Given the description of an element on the screen output the (x, y) to click on. 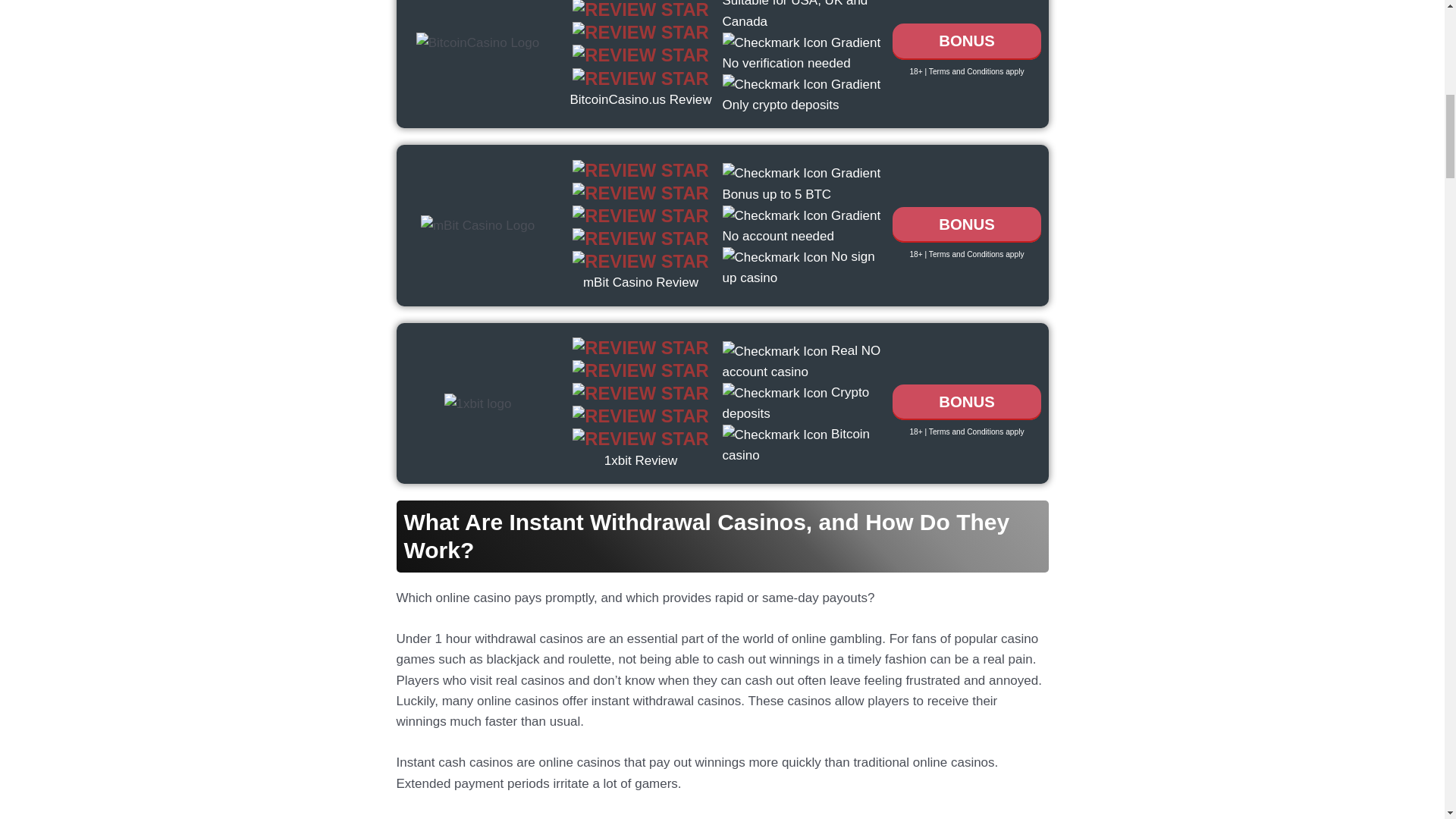
mBit Casino Review (640, 282)
BitcoinCasino.us Review (640, 99)
BONUS (966, 402)
BONUS (966, 225)
BONUS (966, 41)
1xbit Review (640, 460)
